Given the description of an element on the screen output the (x, y) to click on. 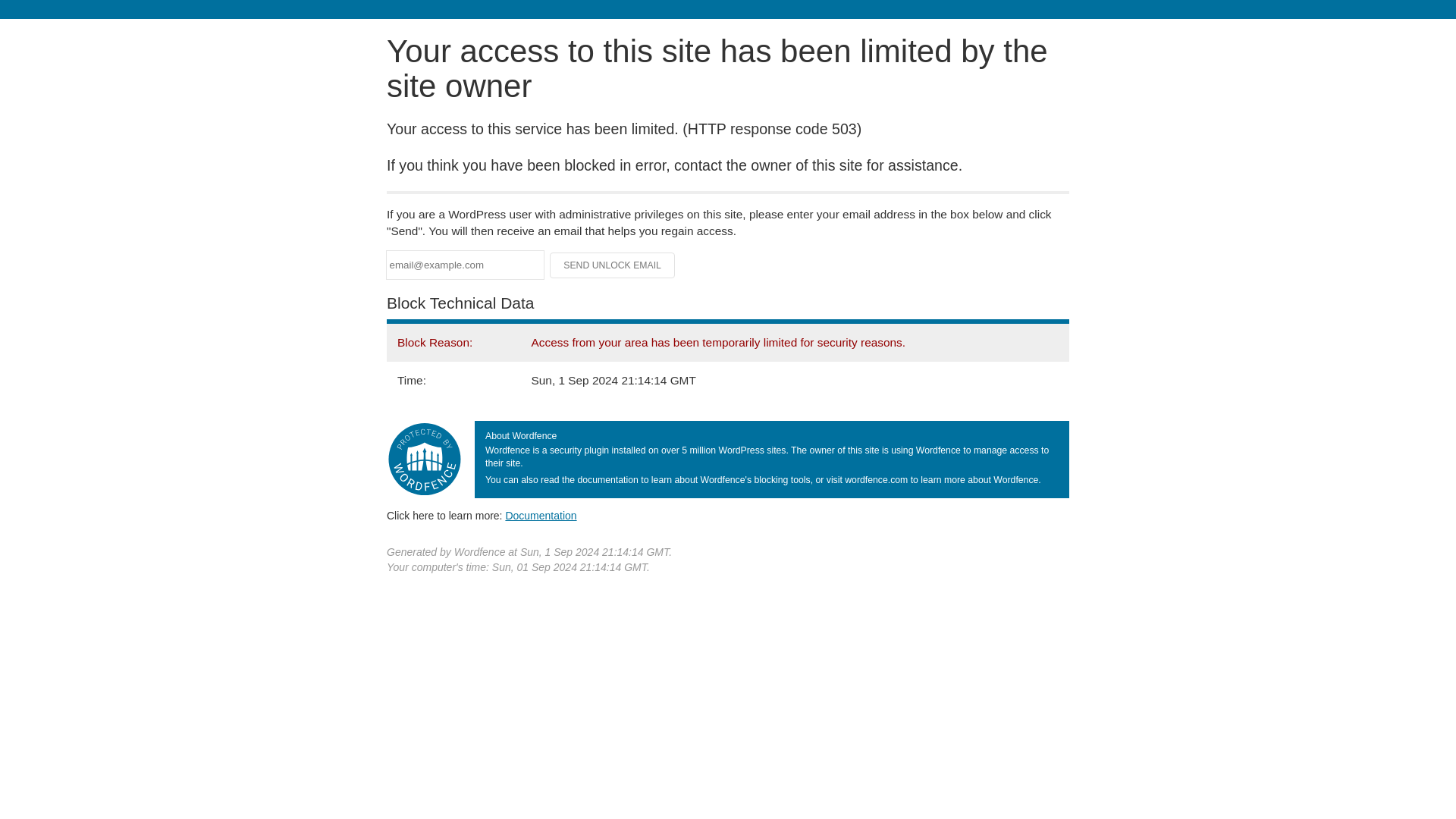
Send Unlock Email (612, 265)
Documentation (540, 515)
Send Unlock Email (612, 265)
